Given the description of an element on the screen output the (x, y) to click on. 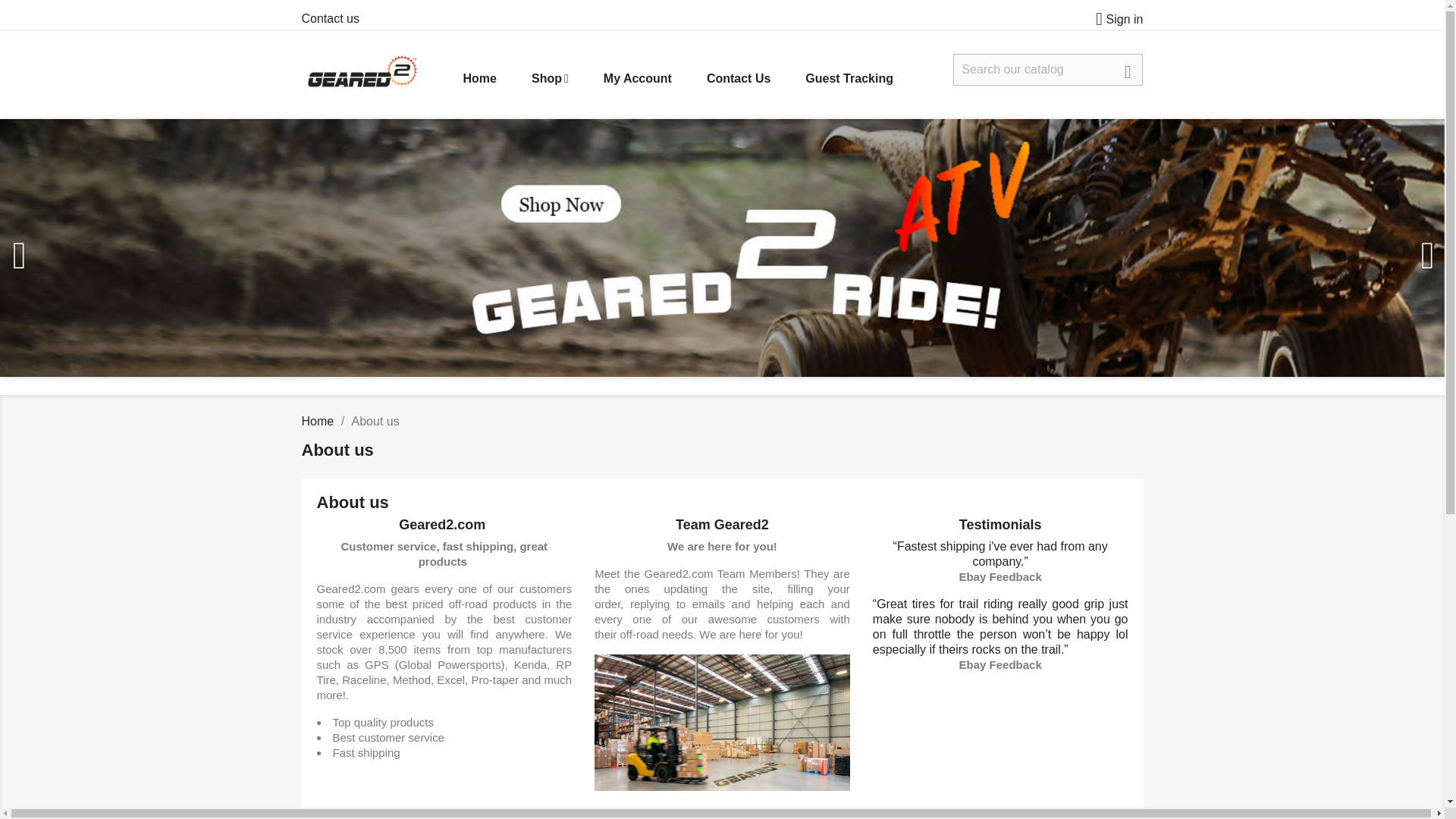
Home (317, 420)
Contact Us (738, 79)
Log in to your customer account (1113, 19)
Shop (549, 79)
Home (478, 79)
My Account (637, 79)
Contact us (330, 18)
Guest Tracking (849, 79)
